Given the description of an element on the screen output the (x, y) to click on. 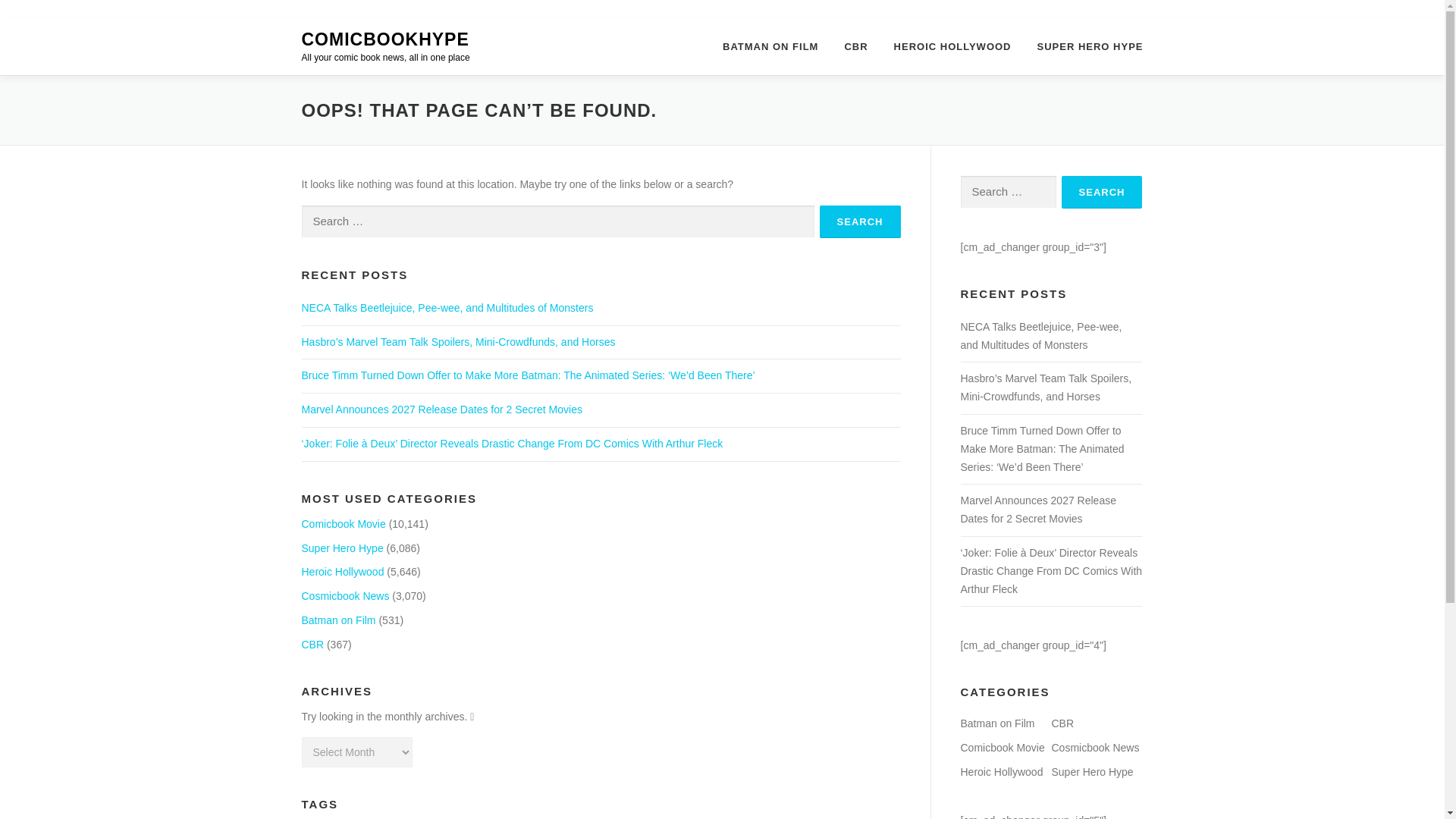
Marvel Announces 2027 Release Dates for 2 Secret Movies (441, 409)
SUPER HERO HYPE (1083, 46)
Search (860, 221)
Batman on Film (338, 620)
Skip to content (34, 27)
HEROIC HOLLYWOOD (952, 46)
Cosmicbook News (345, 595)
Search (860, 221)
Search (860, 221)
NECA Talks Beetlejuice, Pee-wee, and Multitudes of Monsters (447, 307)
Comicbook Movie (343, 523)
BATMAN ON FILM (770, 46)
Search (1101, 192)
CBR (312, 644)
COMICBOOKHYPE (384, 39)
